Given the description of an element on the screen output the (x, y) to click on. 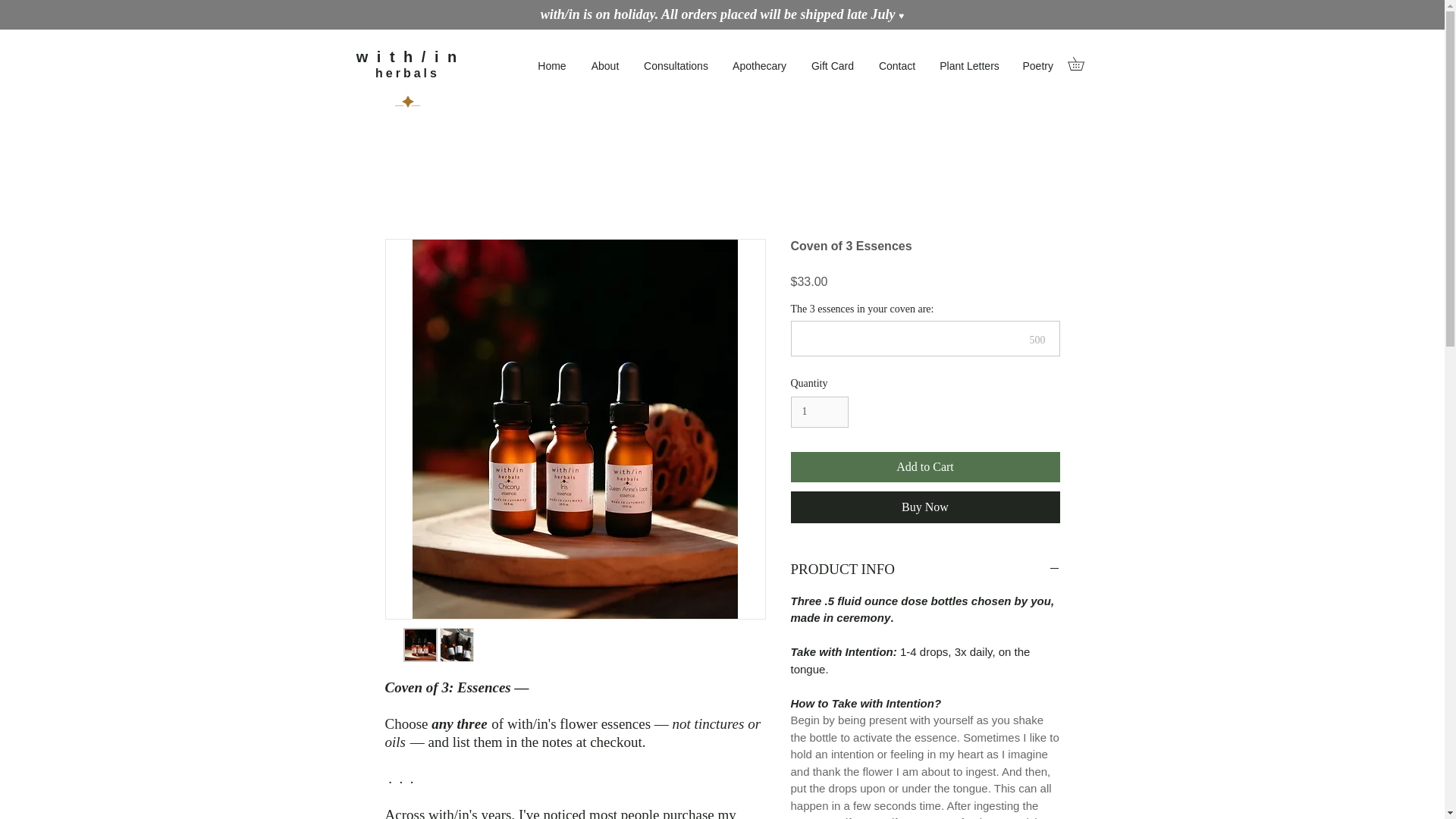
Gift Card (832, 65)
Home (551, 65)
Add to Cart (924, 467)
Consultations (675, 65)
Contact (896, 65)
1 (818, 411)
About (604, 65)
Apothecary (759, 65)
Plant Letters (969, 65)
Poetry (1037, 65)
PRODUCT INFO (924, 569)
Buy Now (924, 507)
